Given the description of an element on the screen output the (x, y) to click on. 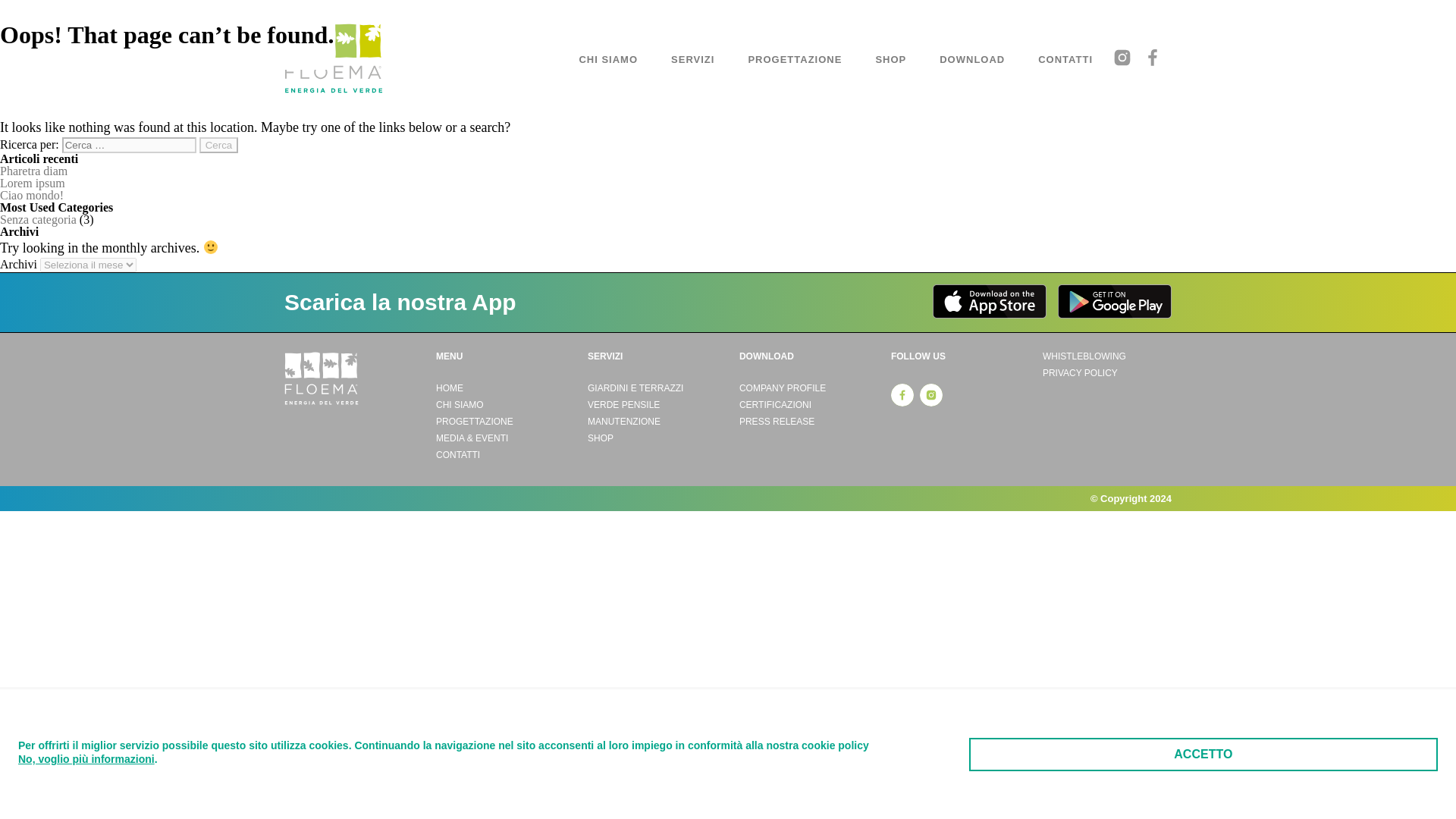
Ciao mondo! (32, 195)
WHISTLEBLOWING (1107, 356)
Pharetra diam (33, 170)
DOWNLOAD (972, 59)
CHI SIAMO (607, 59)
COMPANY PROFILE (803, 388)
PRIVACY POLICY (1107, 372)
PROGETTAZIONE (794, 59)
SHOP (890, 59)
Cerca (218, 145)
